Given the description of an element on the screen output the (x, y) to click on. 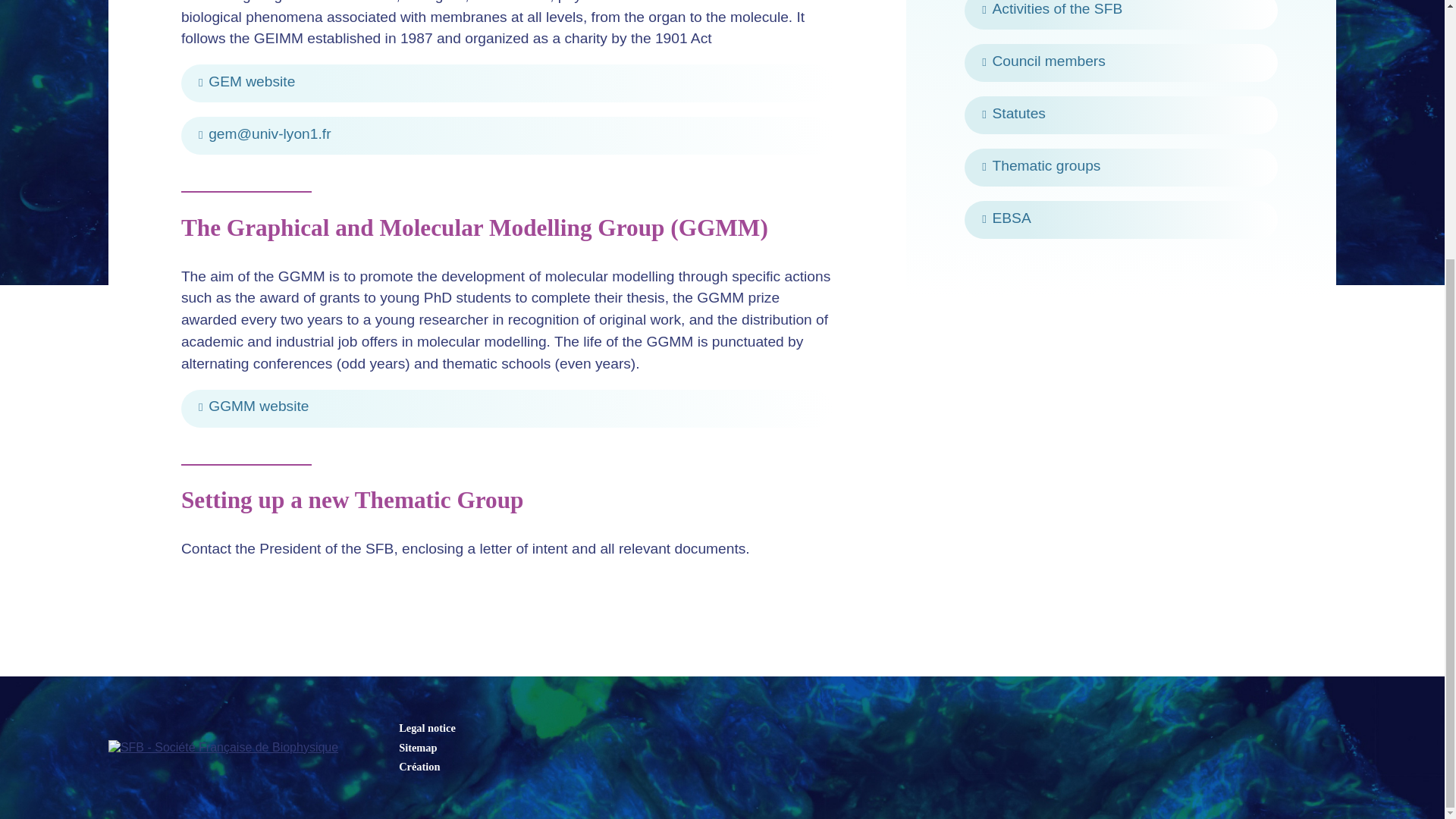
EBSA (1120, 219)
Statutes (1120, 115)
GGMM website (507, 408)
Sitemap (417, 747)
Thematic groups (1120, 167)
Activities of the SFB (1120, 14)
Legal notice (426, 727)
Council members (1120, 62)
GEM website (507, 83)
